Given the description of an element on the screen output the (x, y) to click on. 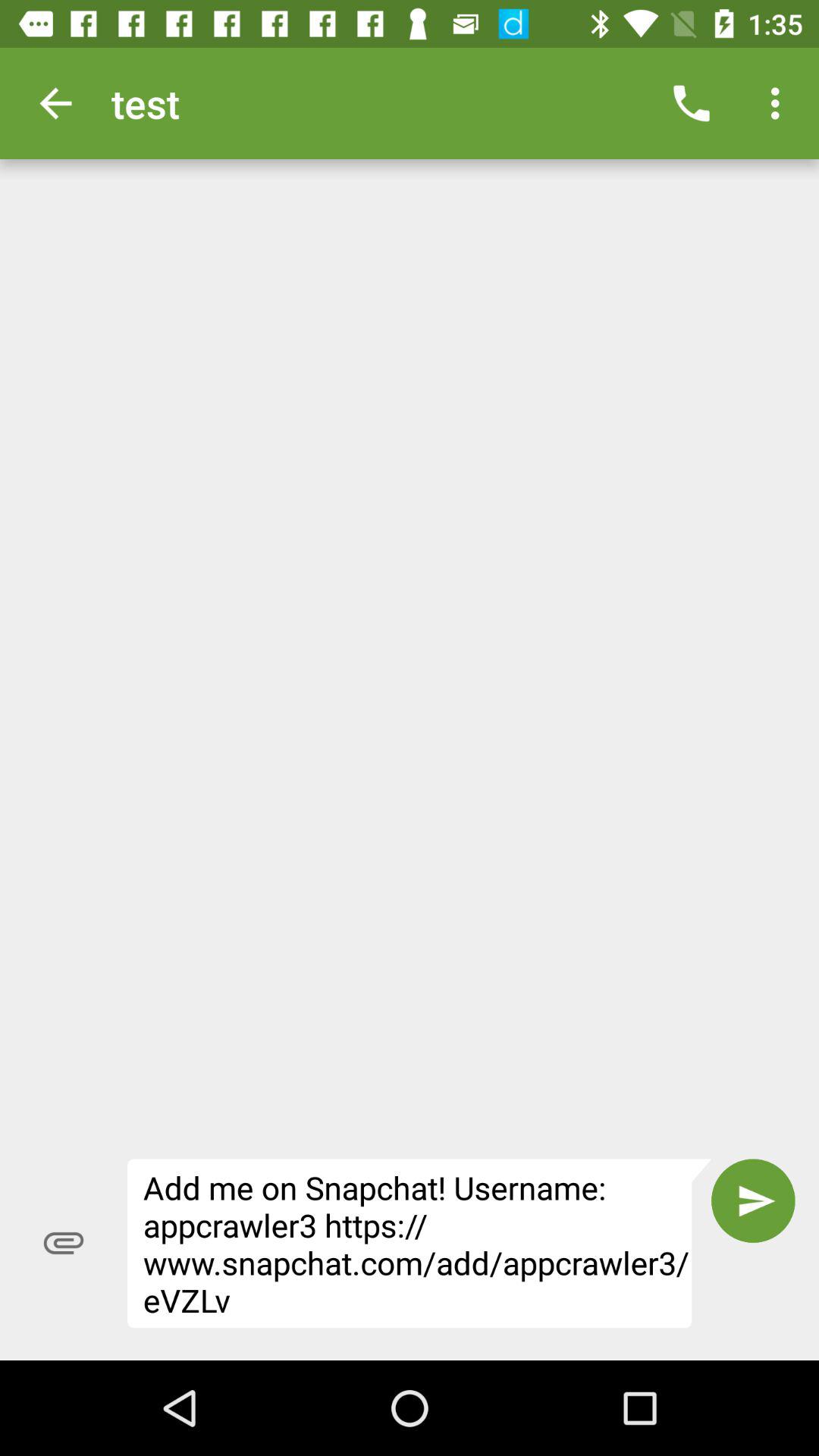
click item next to the add me on item (753, 1200)
